Given the description of an element on the screen output the (x, y) to click on. 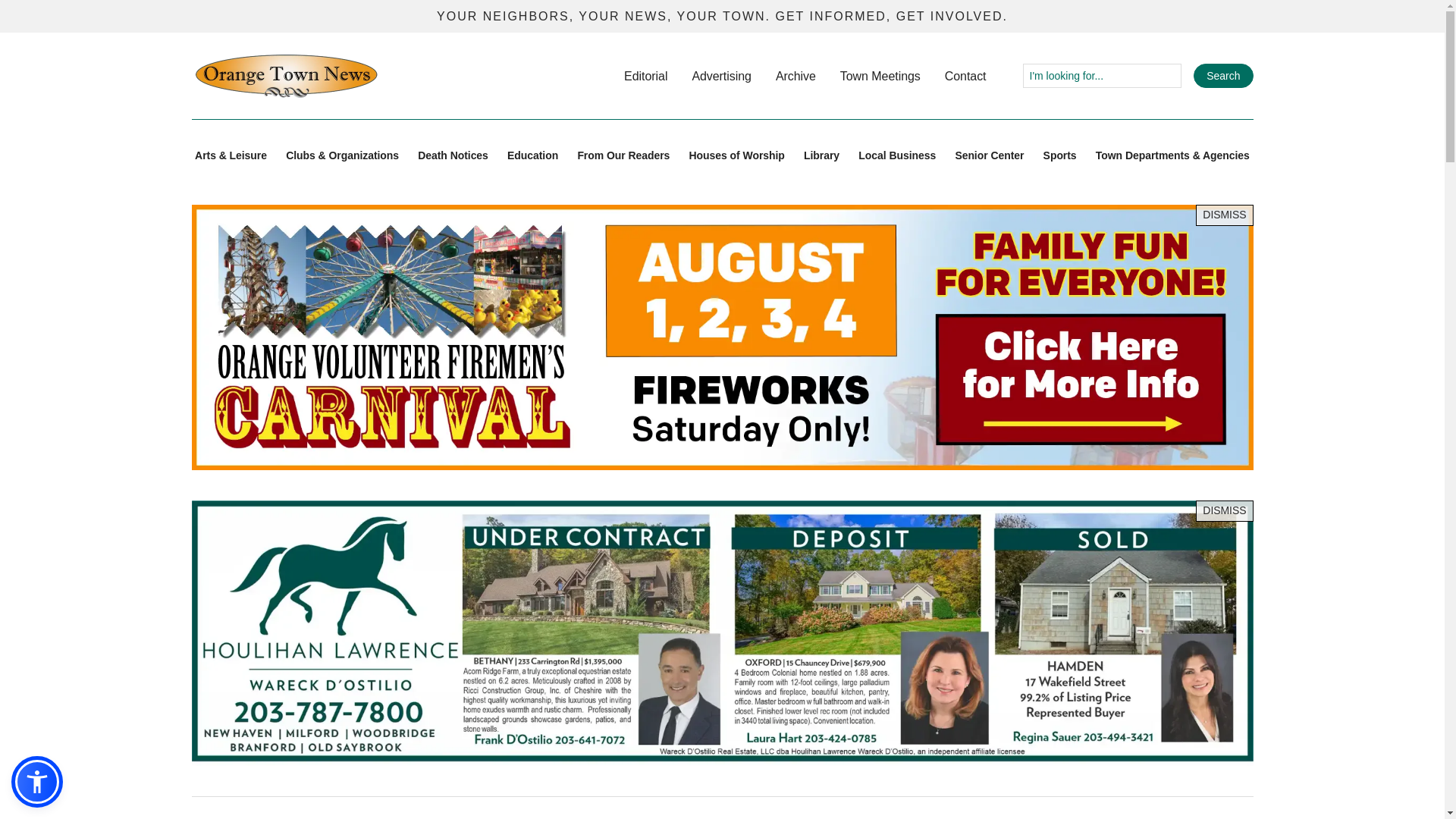
Town Meetings (880, 76)
Library (821, 156)
Search (1222, 75)
Search (1222, 75)
From Our Readers (622, 156)
Death Notices (452, 156)
Sports (1060, 156)
Search (1222, 75)
Education (531, 156)
Archive (795, 76)
Senior Center (989, 156)
Advertising (721, 76)
Editorial (645, 76)
